Given the description of an element on the screen output the (x, y) to click on. 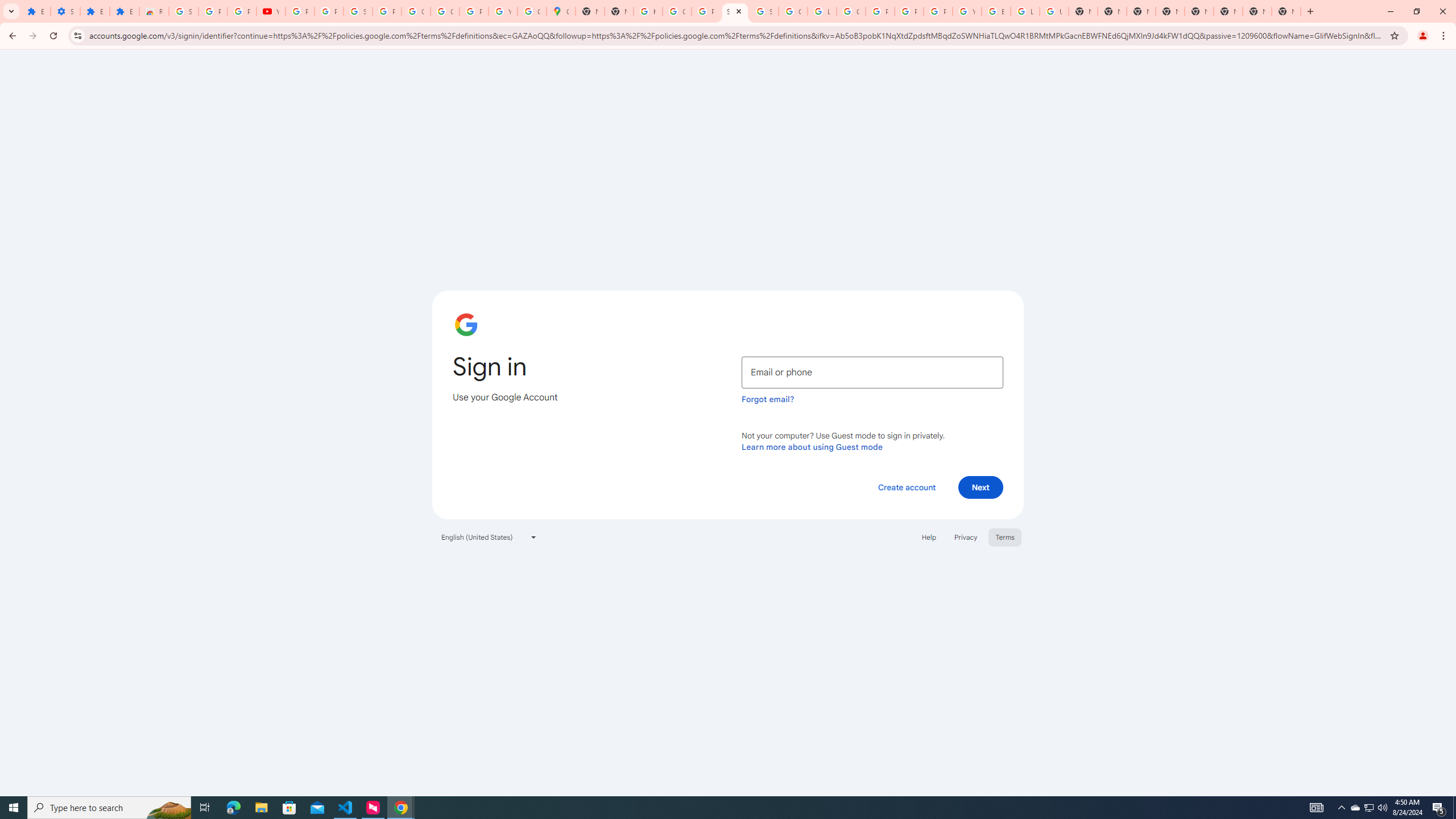
Extensions (35, 11)
Google Account (415, 11)
Next (980, 486)
YouTube (967, 11)
New Tab (1286, 11)
New Tab (1140, 11)
Google Maps (560, 11)
